Given the description of an element on the screen output the (x, y) to click on. 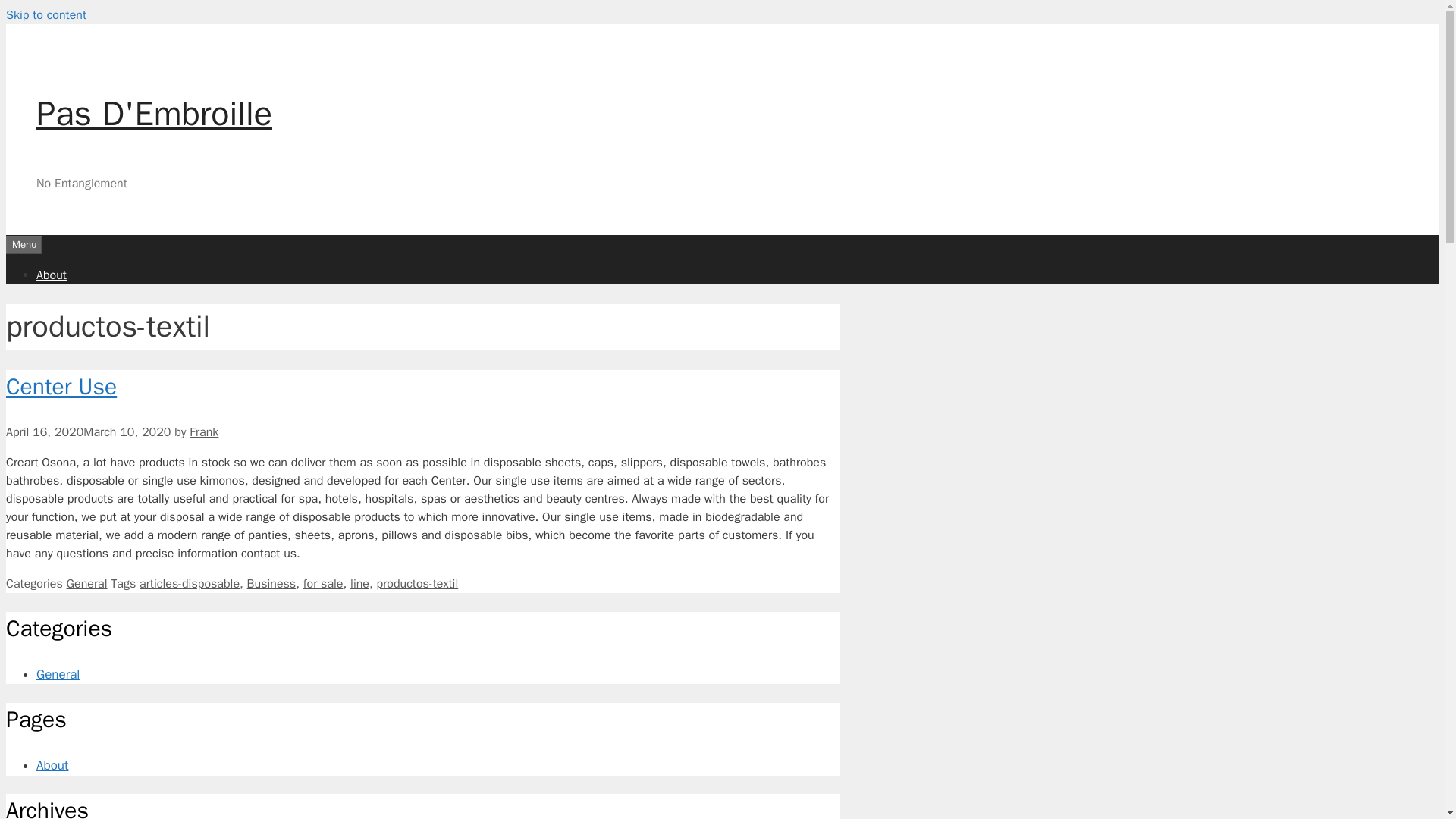
Business (272, 583)
Menu (23, 244)
View all posts by Frank (203, 432)
Skip to content (45, 14)
About (51, 273)
productos-textil (417, 583)
General (58, 674)
Pas D'Embroille (154, 113)
Skip to content (45, 14)
Center Use (60, 386)
